Given the description of an element on the screen output the (x, y) to click on. 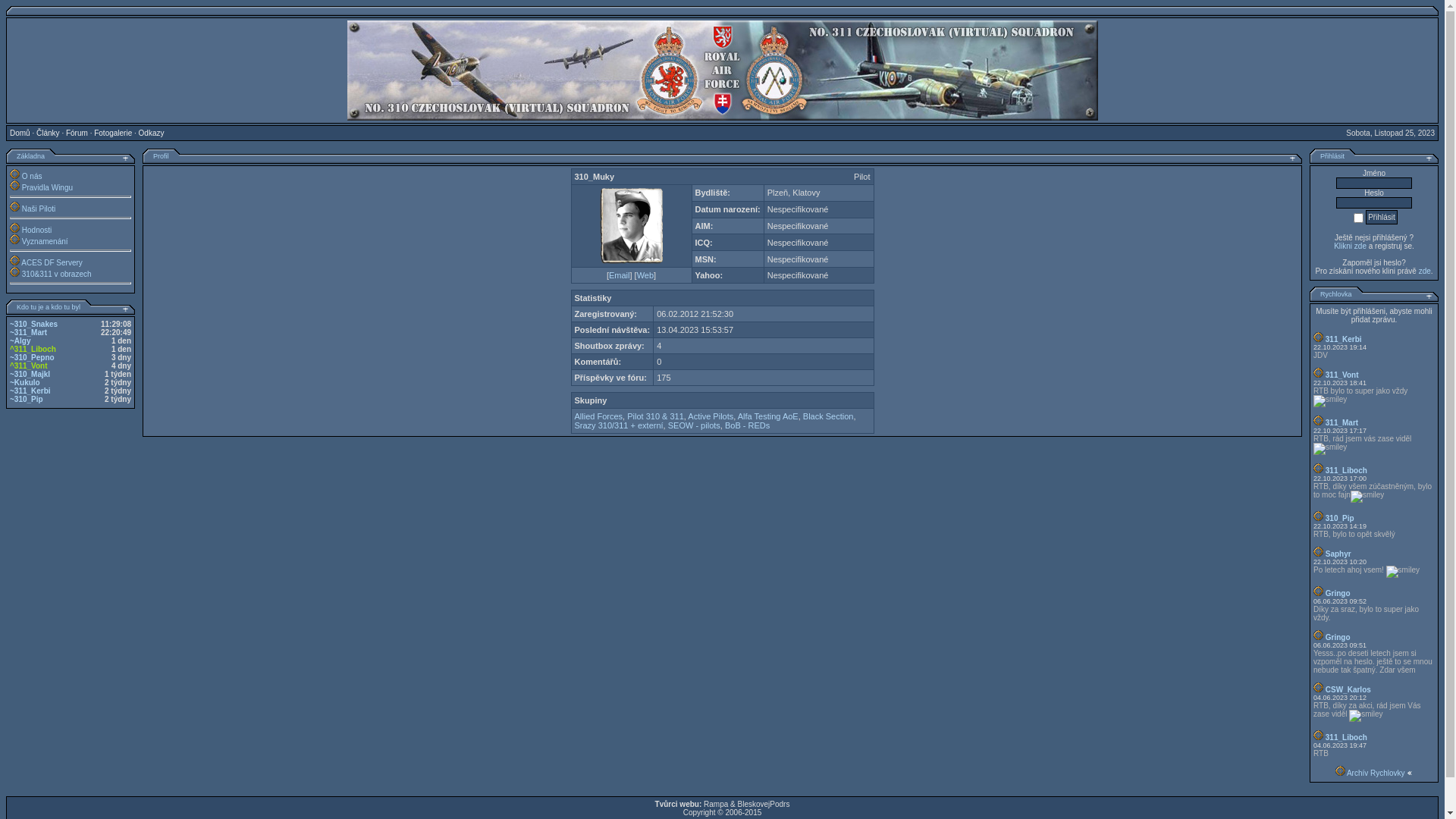
Email Element type: text (619, 274)
^311_Vont Element type: text (28, 365)
310&311 v obrazech Element type: text (56, 273)
311_Liboch Element type: text (1346, 737)
Active Pilots Element type: text (710, 415)
~310_Pepno Element type: text (31, 357)
ACES DF Servery Element type: text (51, 262)
310_Pip Element type: text (1339, 518)
Fotogalerie Element type: text (112, 132)
Web Element type: text (645, 274)
SEOW - pilots Element type: text (694, 424)
CSW_Karlos Element type: text (1348, 689)
Pravidla Wingu Element type: text (46, 187)
311_Kerbi Element type: text (1343, 339)
Gringo Element type: text (1337, 593)
~311_Kerbi Element type: text (29, 390)
311_Vont Element type: text (1341, 374)
311_Mart Element type: text (1341, 422)
Black Section Element type: text (828, 415)
BoB - REDs Element type: text (746, 424)
Allied Forces Element type: text (598, 415)
~311_Mart Element type: text (28, 332)
Klikni zde Element type: text (1349, 245)
~310_Snakes Element type: text (33, 324)
Gringo Element type: text (1337, 637)
Saphyr Element type: text (1338, 553)
Pilot 310 & 311 Element type: text (655, 415)
311_Liboch Element type: text (1346, 470)
^311_Liboch Element type: text (32, 349)
~310_Pip Element type: text (26, 399)
~310_Majkl Element type: text (29, 374)
Odkazy Element type: text (151, 132)
~Kukulo Element type: text (24, 382)
zde Element type: text (1424, 270)
Hodnosti Element type: text (36, 229)
~Algy Element type: text (20, 340)
Alfa Testing AoE Element type: text (767, 415)
No. 310 & 311 Czechoslovak (Virtual) Squadron RAF Element type: hover (722, 70)
